Given the description of an element on the screen output the (x, y) to click on. 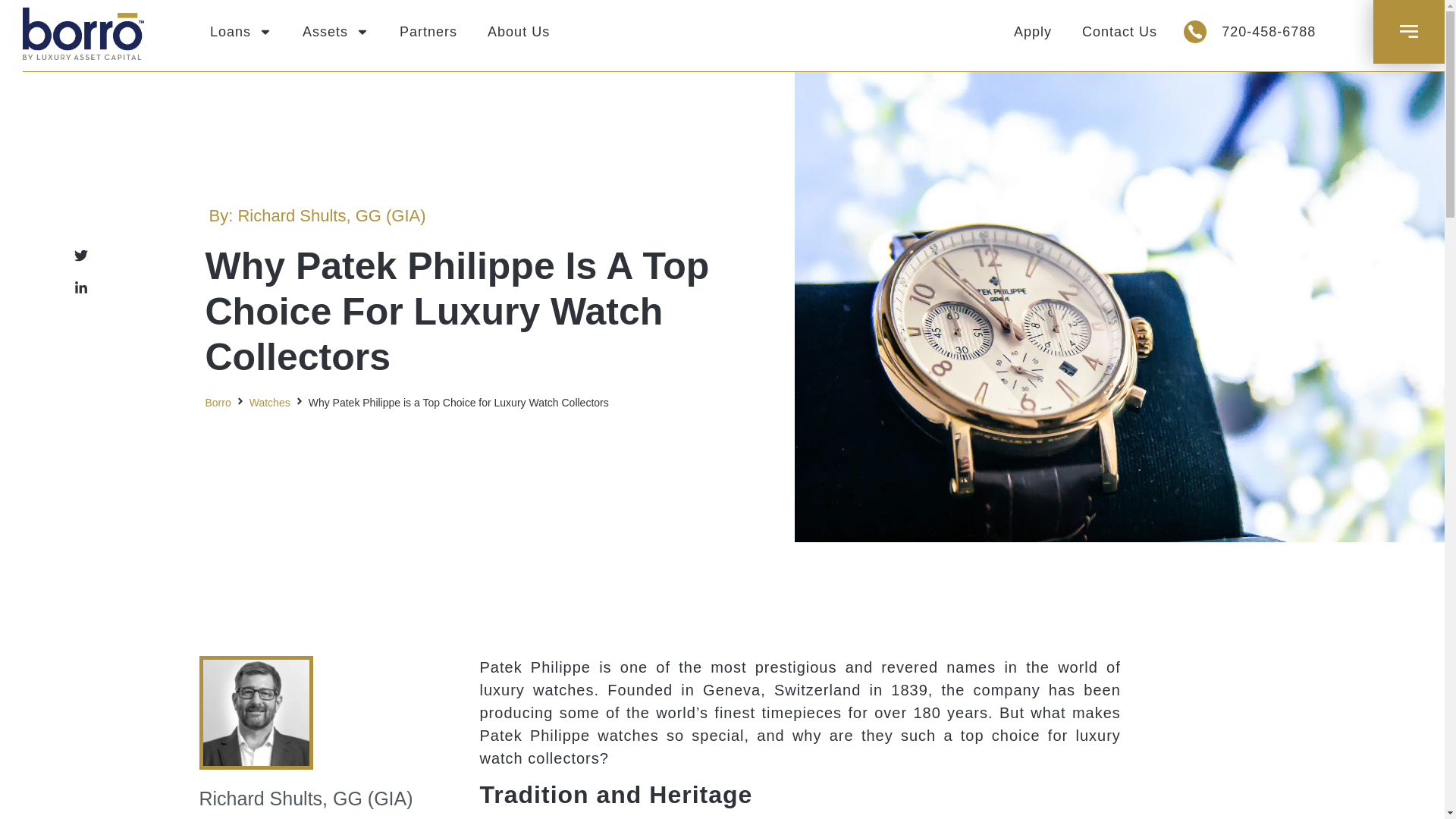
Partners (427, 31)
Menu (1408, 31)
Apply (1032, 31)
Watches (268, 402)
About Us (517, 31)
Borro (217, 402)
Loans (240, 31)
720-458-6788 (1268, 31)
Assets (335, 31)
Contact Us (1119, 31)
